Given the description of an element on the screen output the (x, y) to click on. 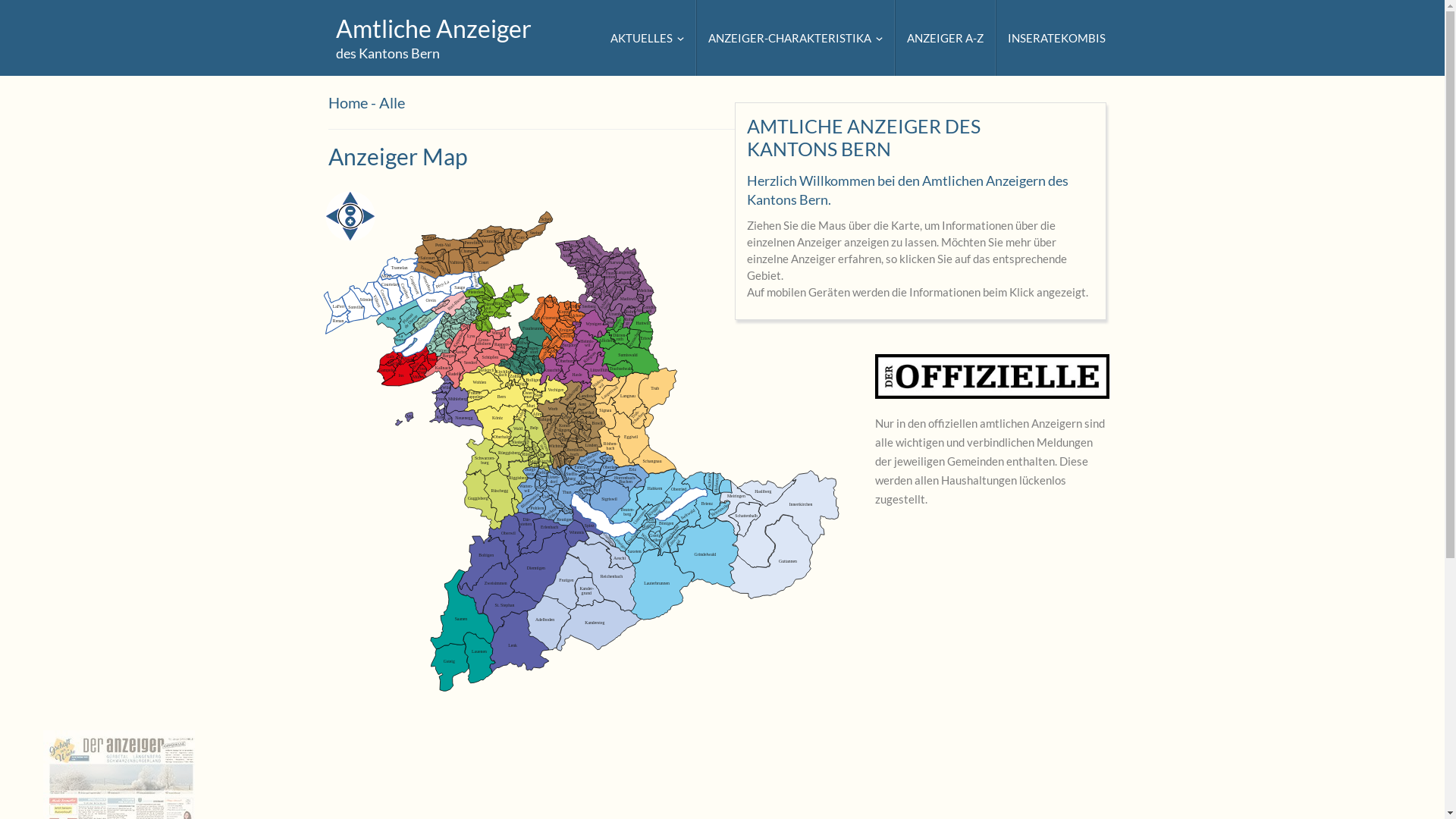
Nods
Plateau de Diesse
La Neuve Element type: text (404, 322)
ANZEIGER-CHARAKTERISTIKA Element type: text (795, 37)
INSERATEKOMBIS Element type: text (1055, 37)
ANZEIGER A-Z Element type: text (944, 37)
Lauenen
Gsteig
Saanen Element type: text (468, 629)
Biel-Bienne
Evilard Element type: text (455, 299)
Innertkirchen
Hasliberg
Meiringen
Schattenhalb
Guttannen Element type: text (776, 534)
Amtliche Anzeiger
des Kantons Bern Element type: text (433, 36)
AKTUELLES Element type: text (647, 37)
